Given the description of an element on the screen output the (x, y) to click on. 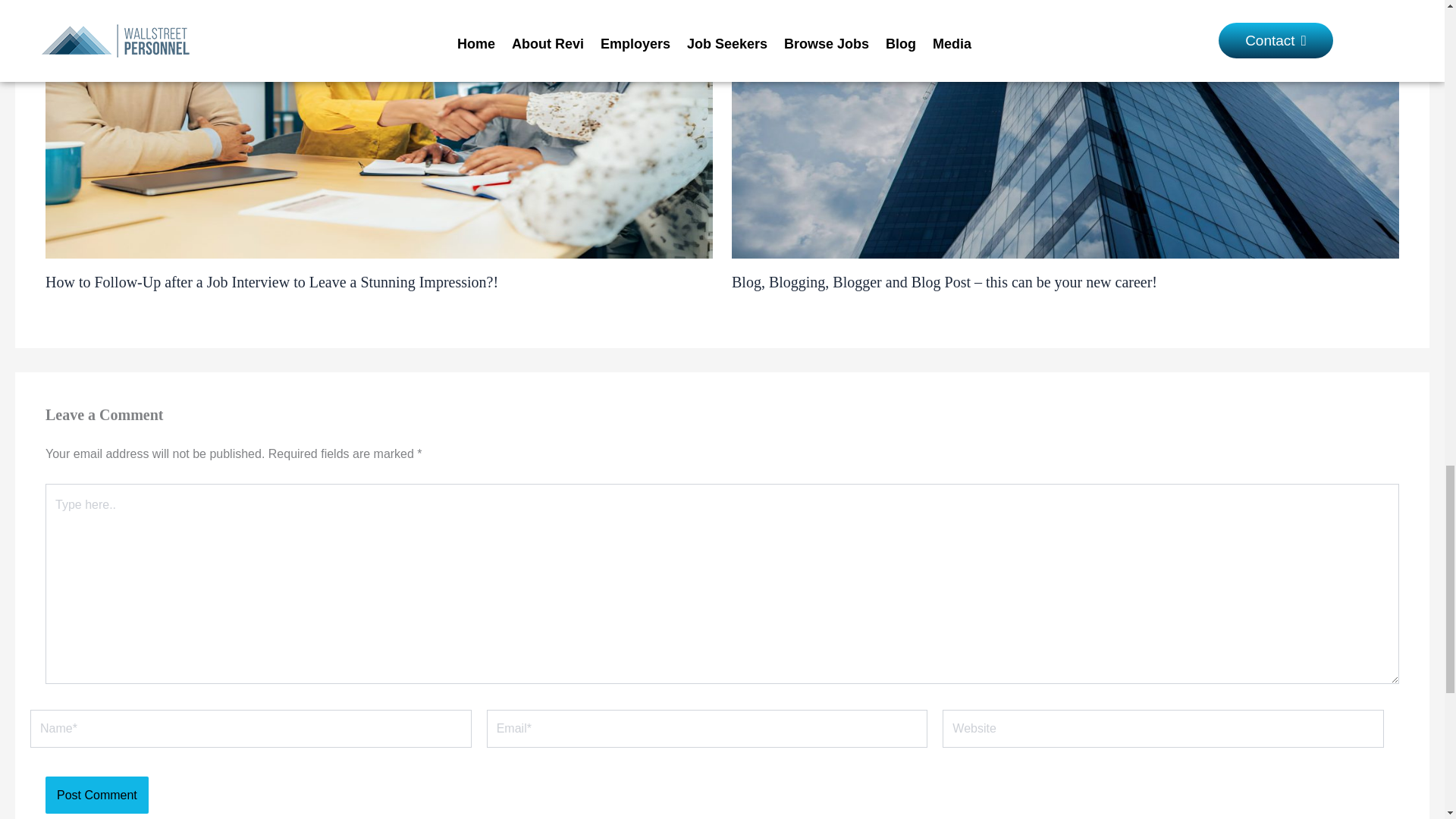
Post Comment (96, 795)
